Given the description of an element on the screen output the (x, y) to click on. 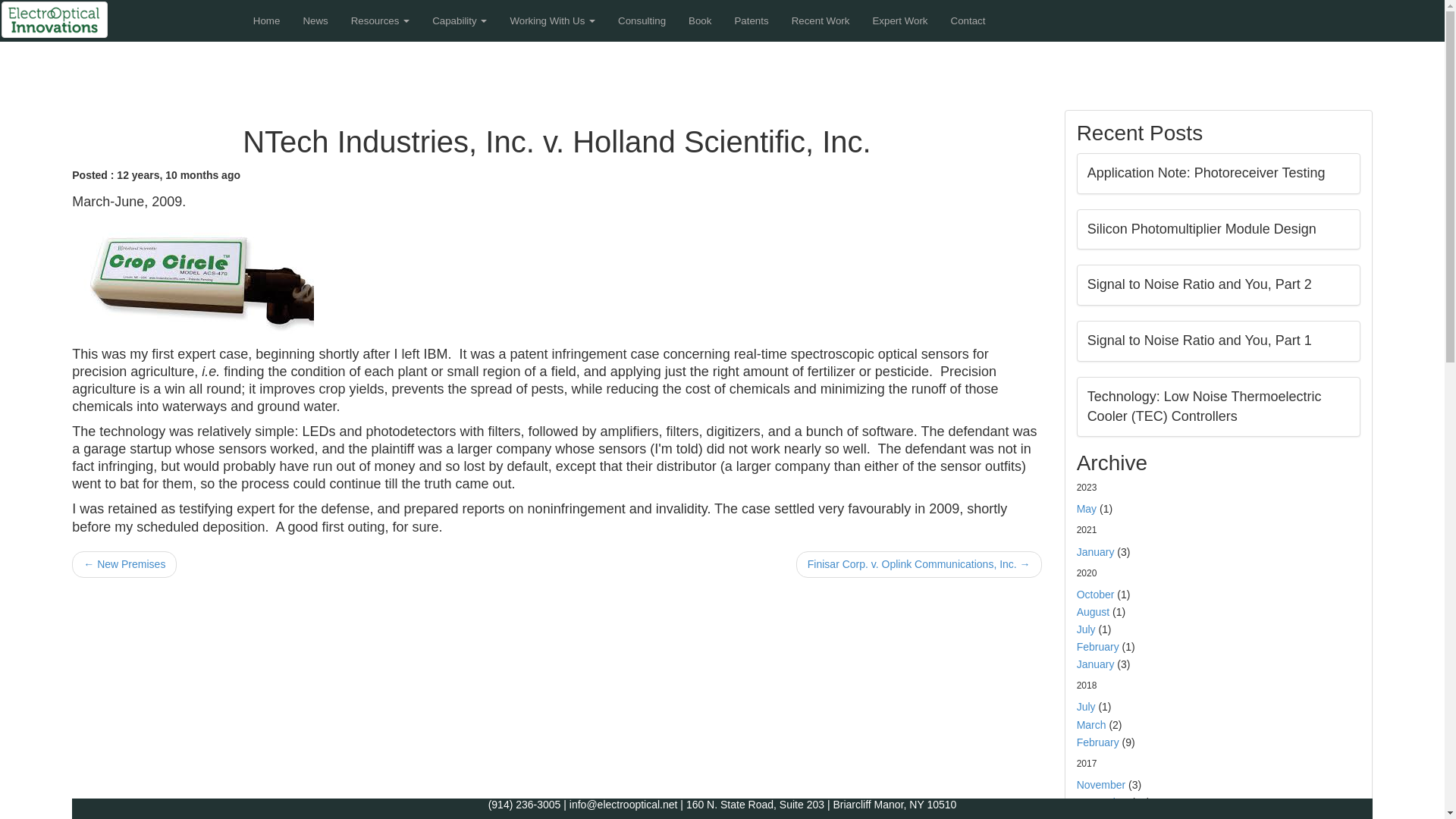
Consulting (642, 21)
January (1096, 664)
January (1096, 551)
July (1086, 629)
November (1101, 784)
Book (699, 21)
September (1102, 802)
Expert Work (899, 21)
October (1096, 594)
Capability (458, 21)
Working With Us (552, 21)
March (1091, 725)
July (1086, 706)
February (1098, 646)
Recent Work (820, 21)
